Given the description of an element on the screen output the (x, y) to click on. 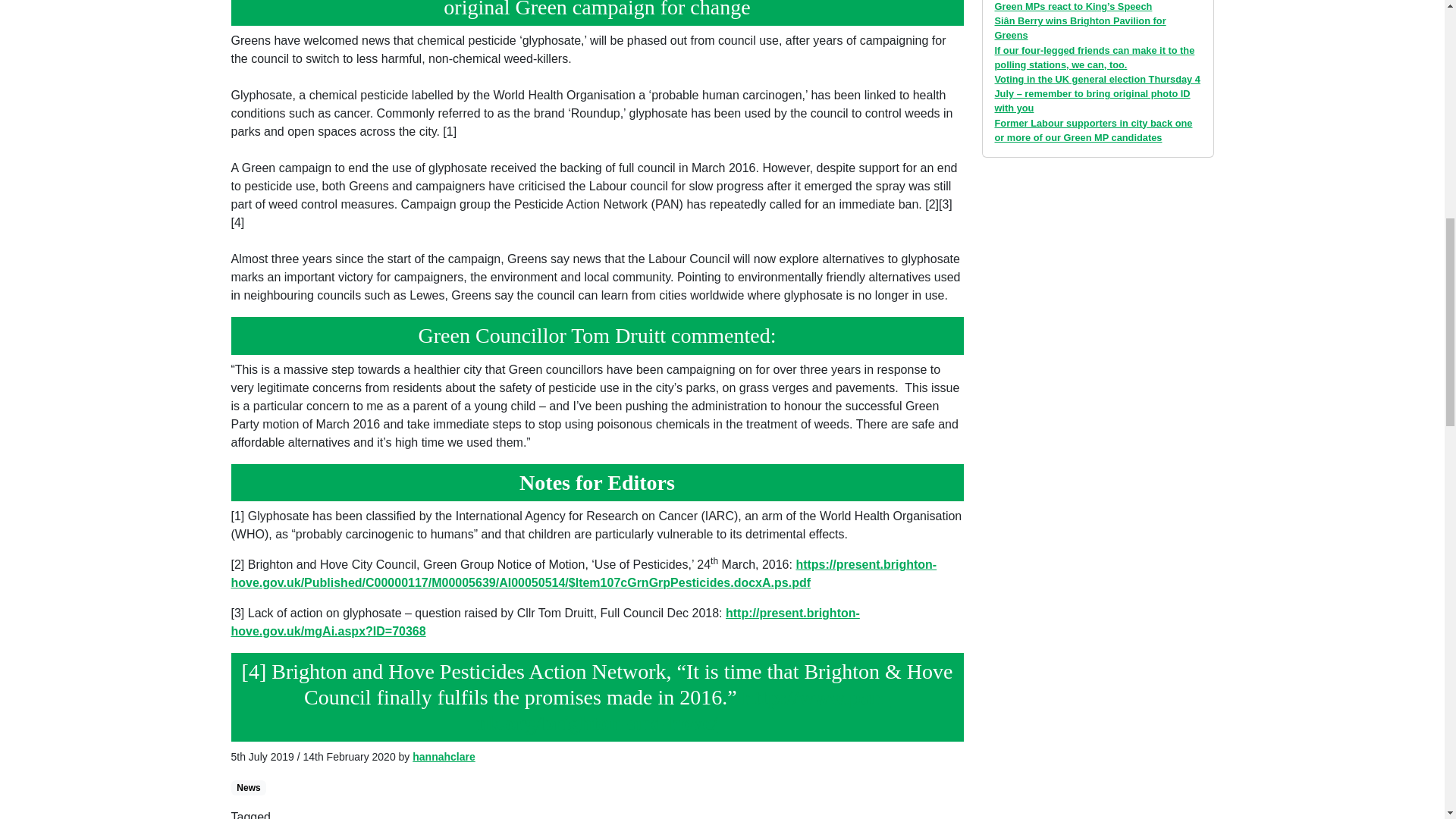
hannahclare (443, 756)
News (248, 787)
